Given the description of an element on the screen output the (x, y) to click on. 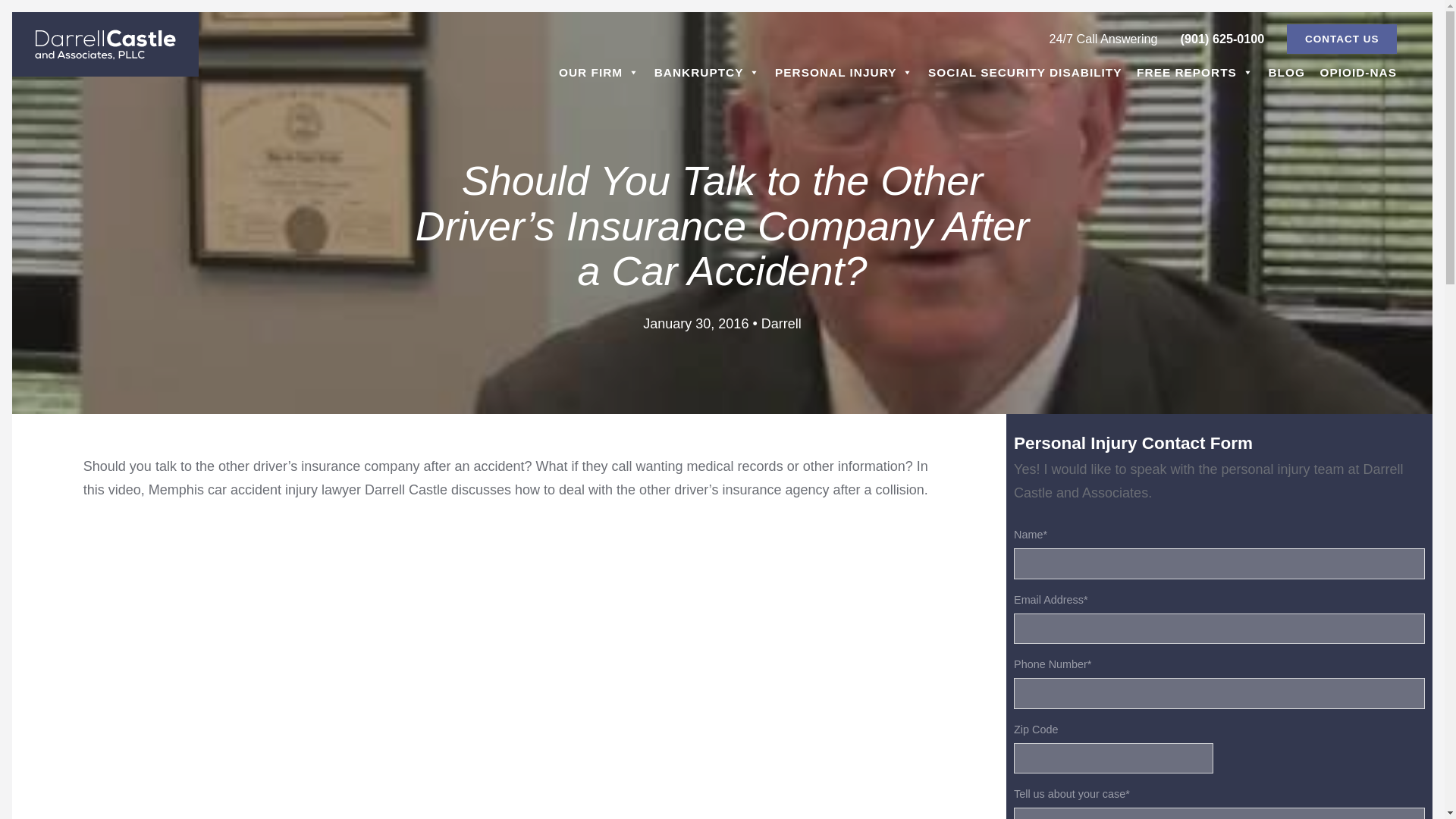
PERSONAL INJURY (843, 72)
BANKRUPTCY (706, 72)
CONTACT US (1341, 39)
OUR FIRM (599, 72)
